Given the description of an element on the screen output the (x, y) to click on. 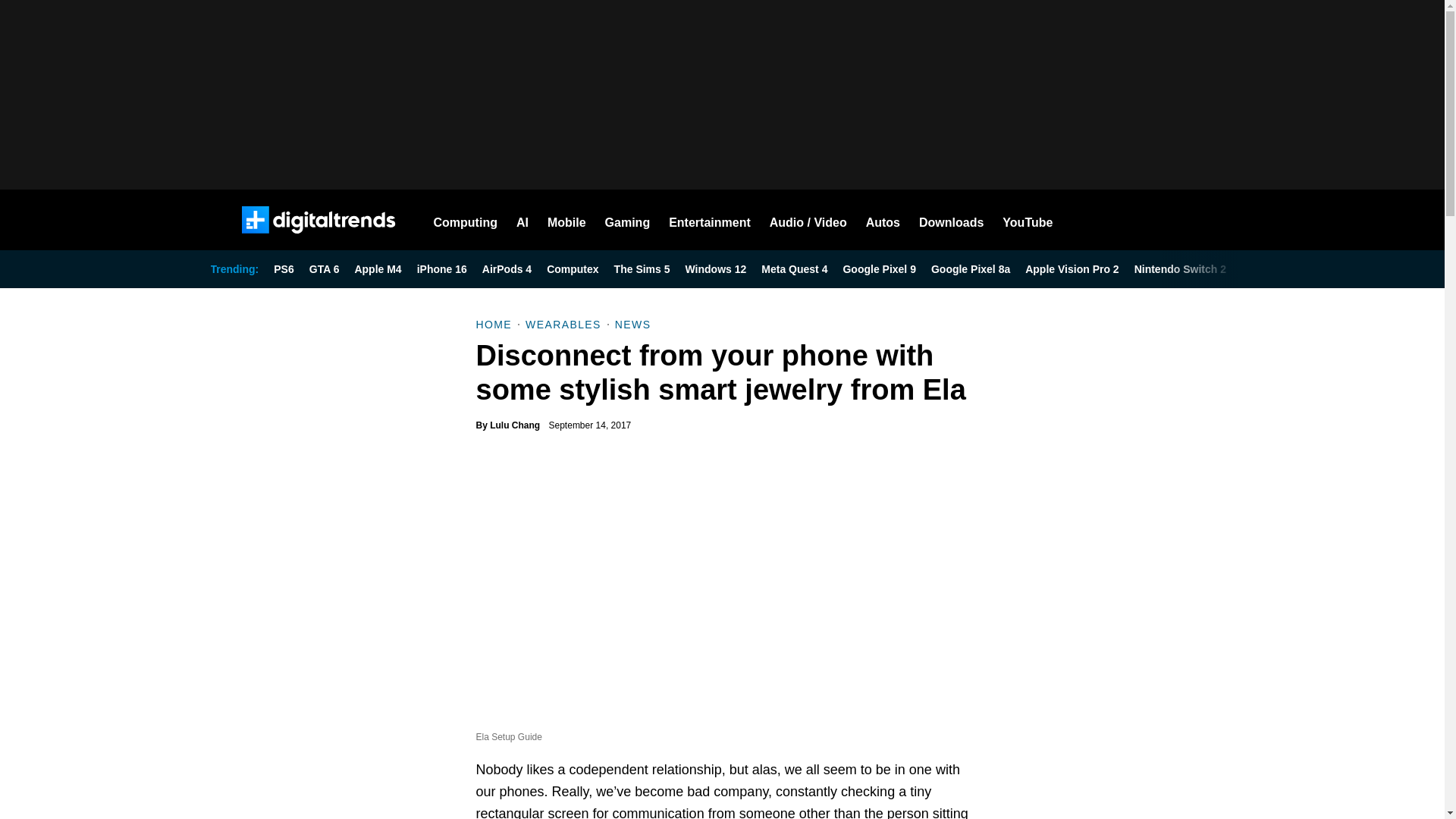
Mobile (566, 219)
Gaming (627, 219)
Computing (465, 219)
Autos (882, 219)
YouTube (1027, 219)
AI (522, 219)
Entertainment (709, 219)
Downloads (951, 219)
